Given the description of an element on the screen output the (x, y) to click on. 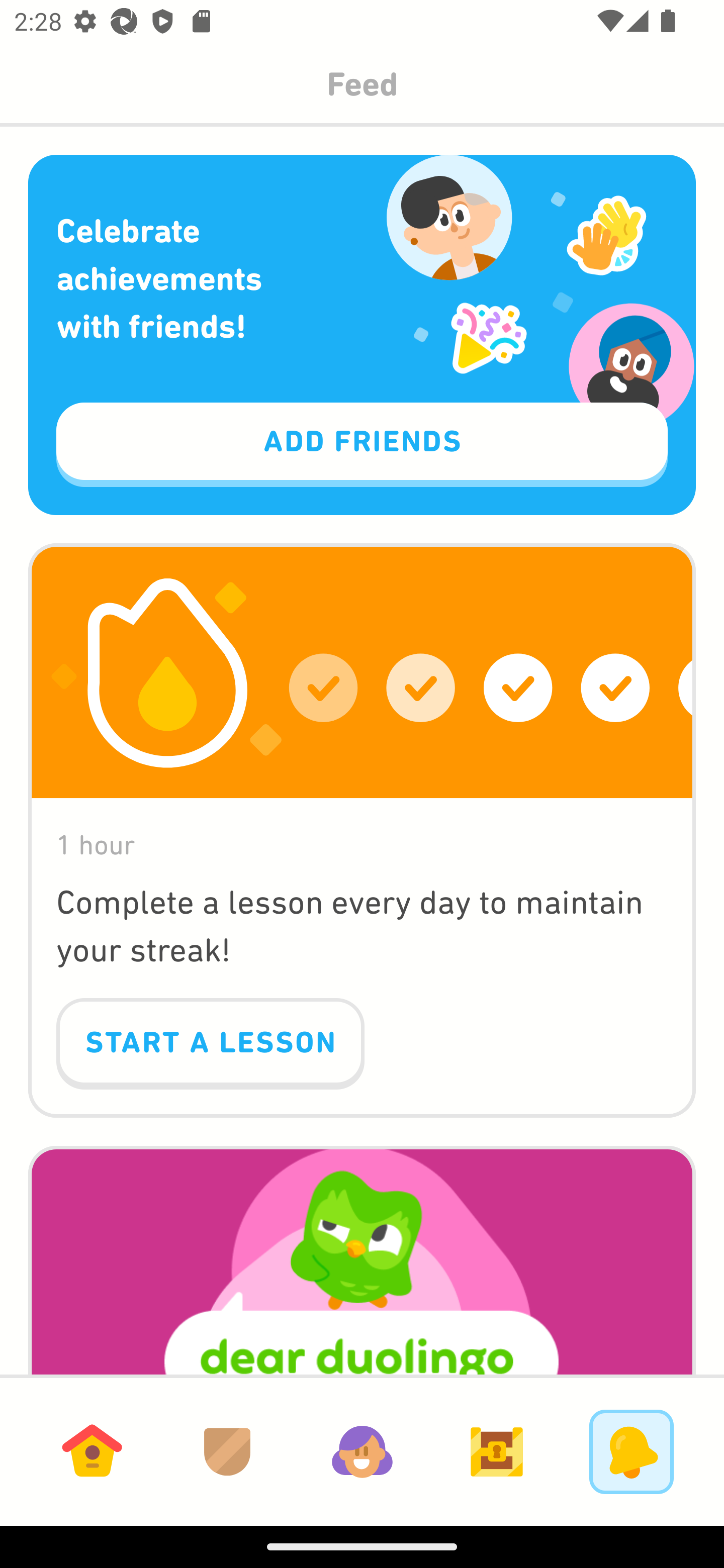
ADD FRIENDS (361, 444)
START A LESSON (210, 1043)
Learn Tab (91, 1451)
Leagues Tab (227, 1451)
Profile Tab (361, 1451)
Goals Tab (496, 1451)
News Tab (631, 1451)
